Given the description of an element on the screen output the (x, y) to click on. 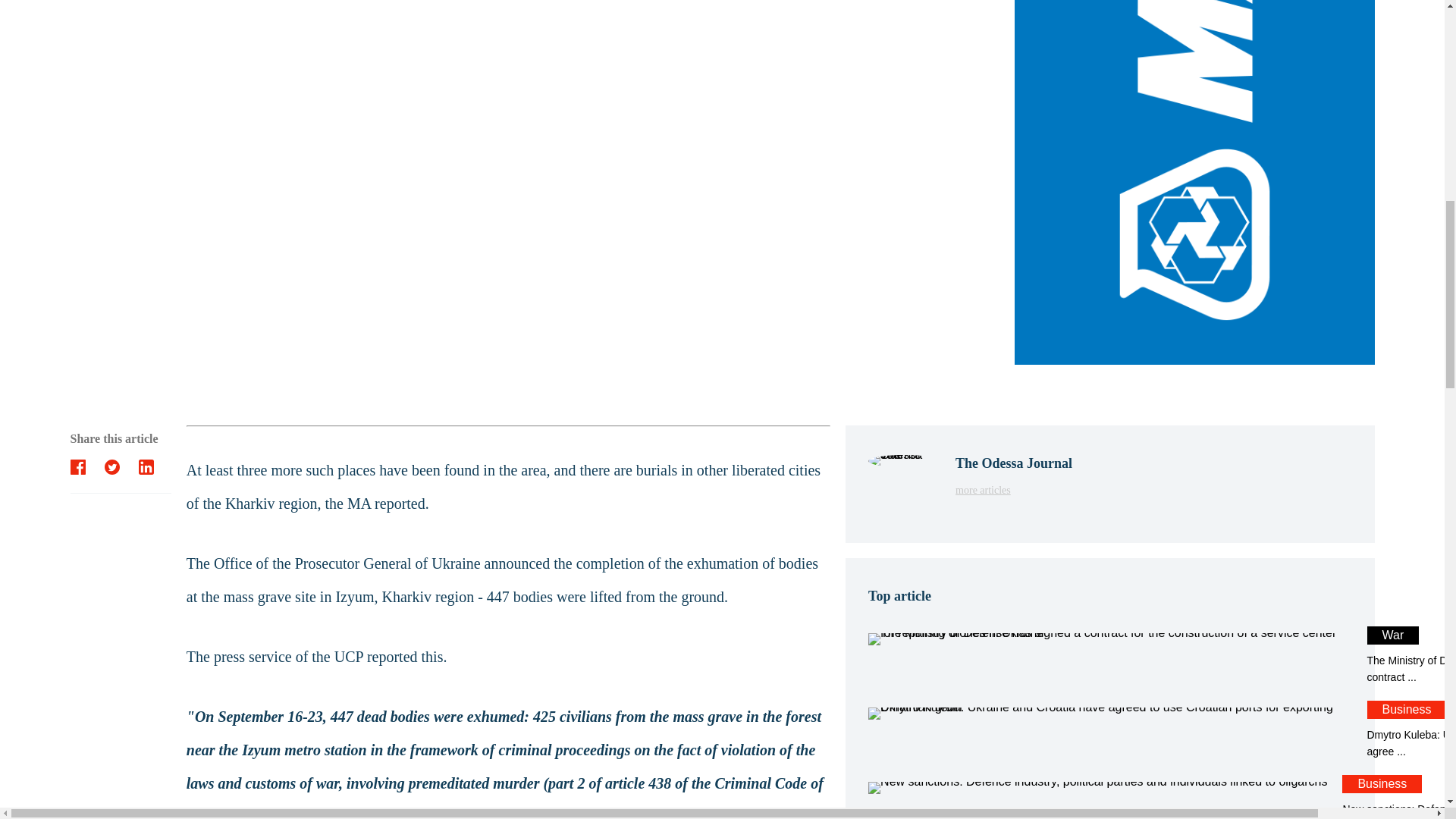
more articles (1013, 489)
Read (1109, 730)
more articles (1109, 655)
Read (1109, 730)
Read (1013, 489)
